Given the description of an element on the screen output the (x, y) to click on. 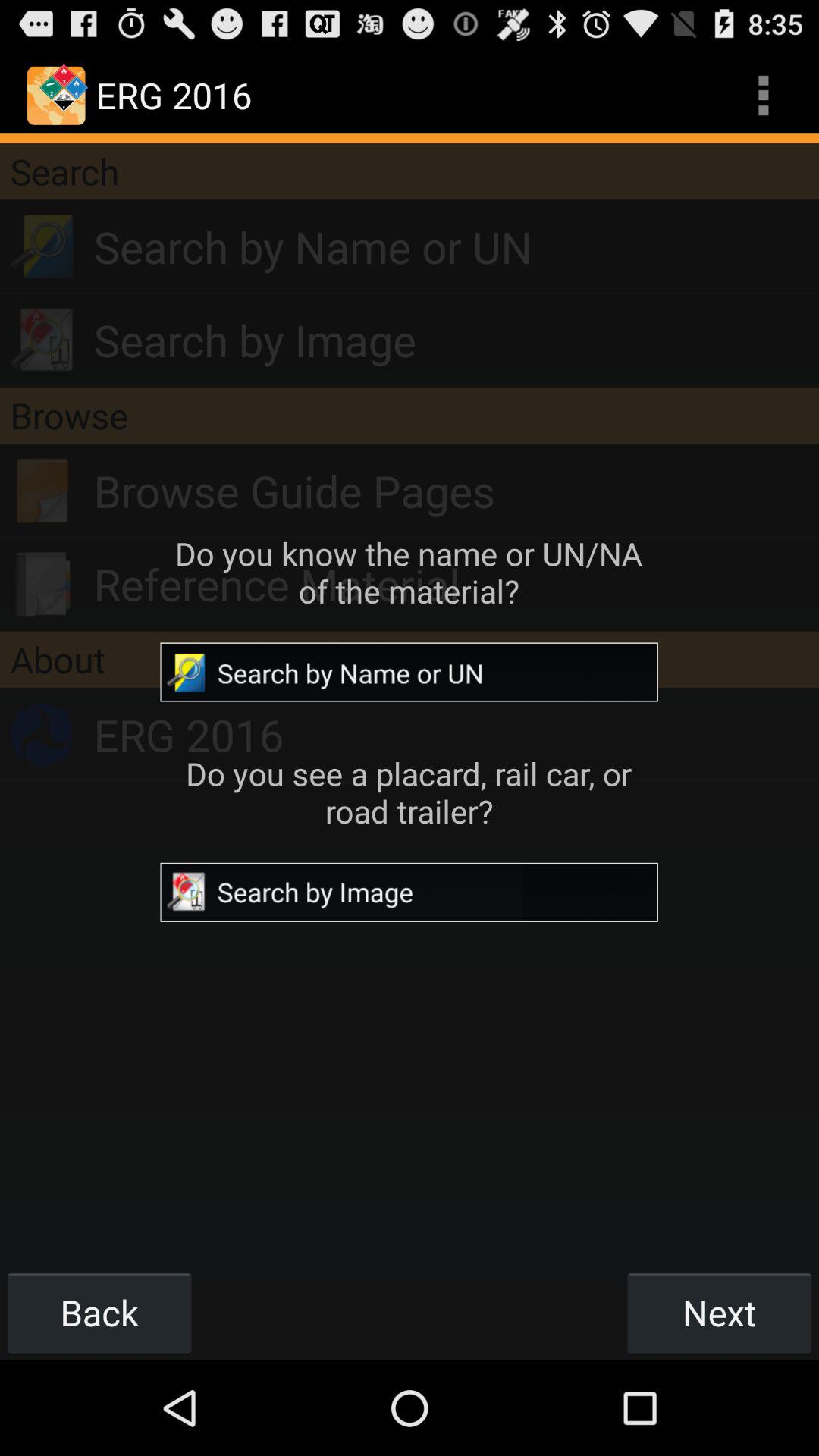
launch item below the reference material icon (409, 659)
